Given the description of an element on the screen output the (x, y) to click on. 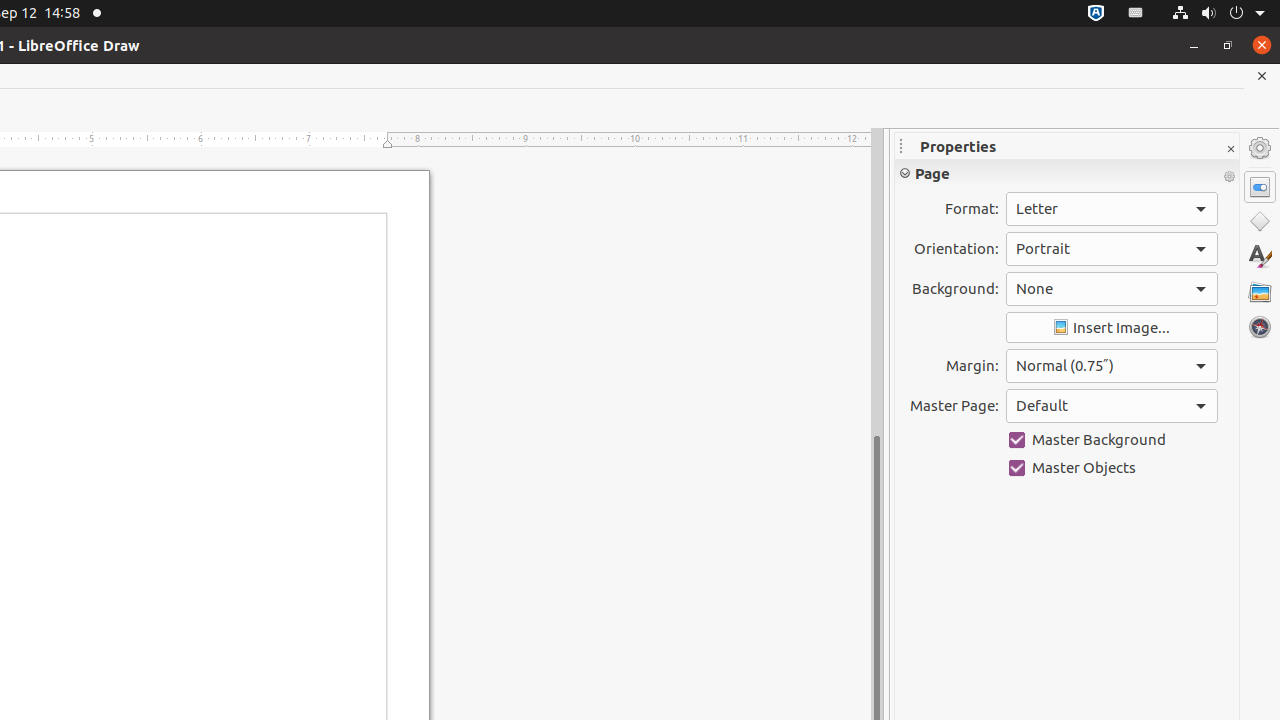
System Element type: menu (1218, 13)
Properties Element type: radio-button (1260, 187)
:1.72/StatusNotifierItem Element type: menu (1096, 13)
Master Background Element type: check-box (1112, 440)
Navigator Element type: radio-button (1260, 327)
